Given the description of an element on the screen output the (x, y) to click on. 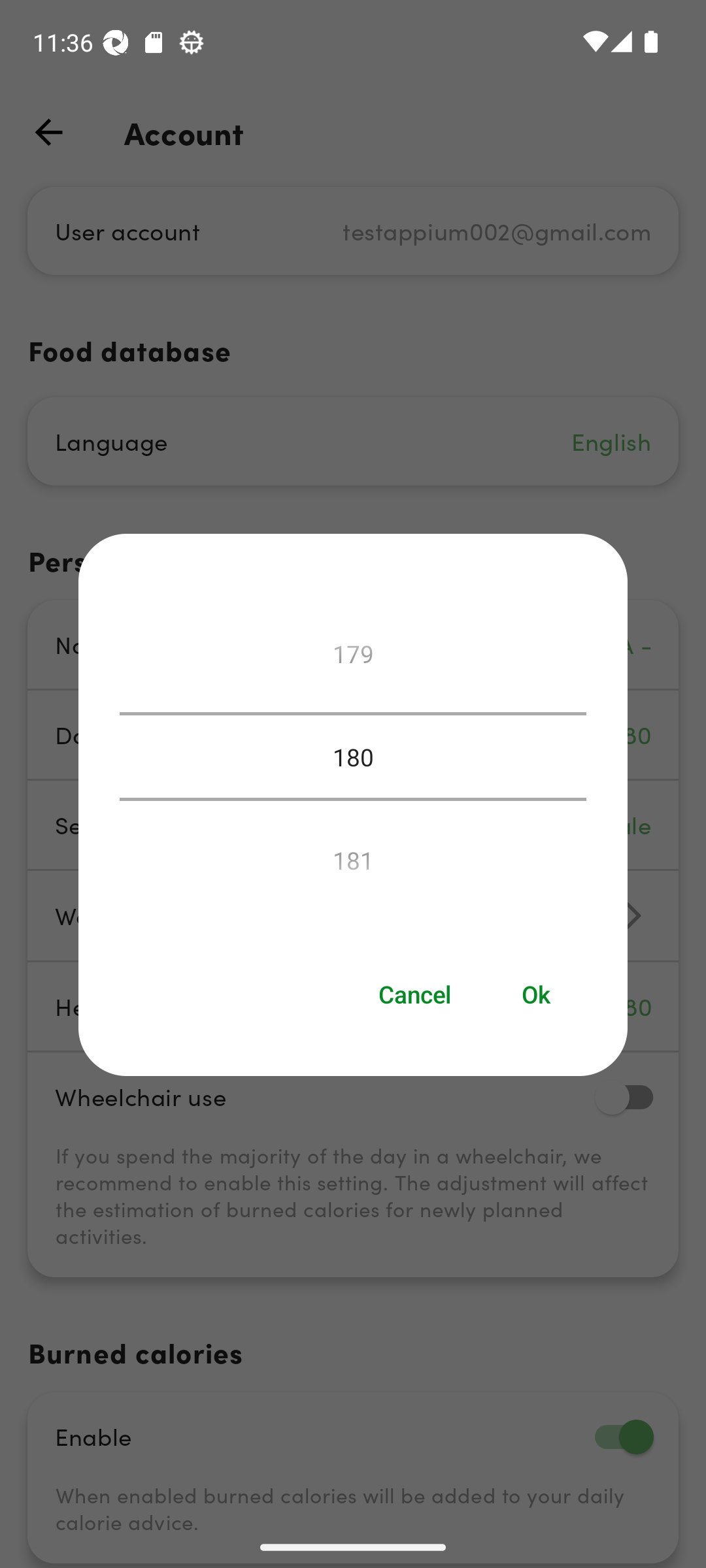
179 (352, 658)
180 (352, 756)
181 (352, 854)
Cancel (415, 993)
Ok (536, 993)
